Given the description of an element on the screen output the (x, y) to click on. 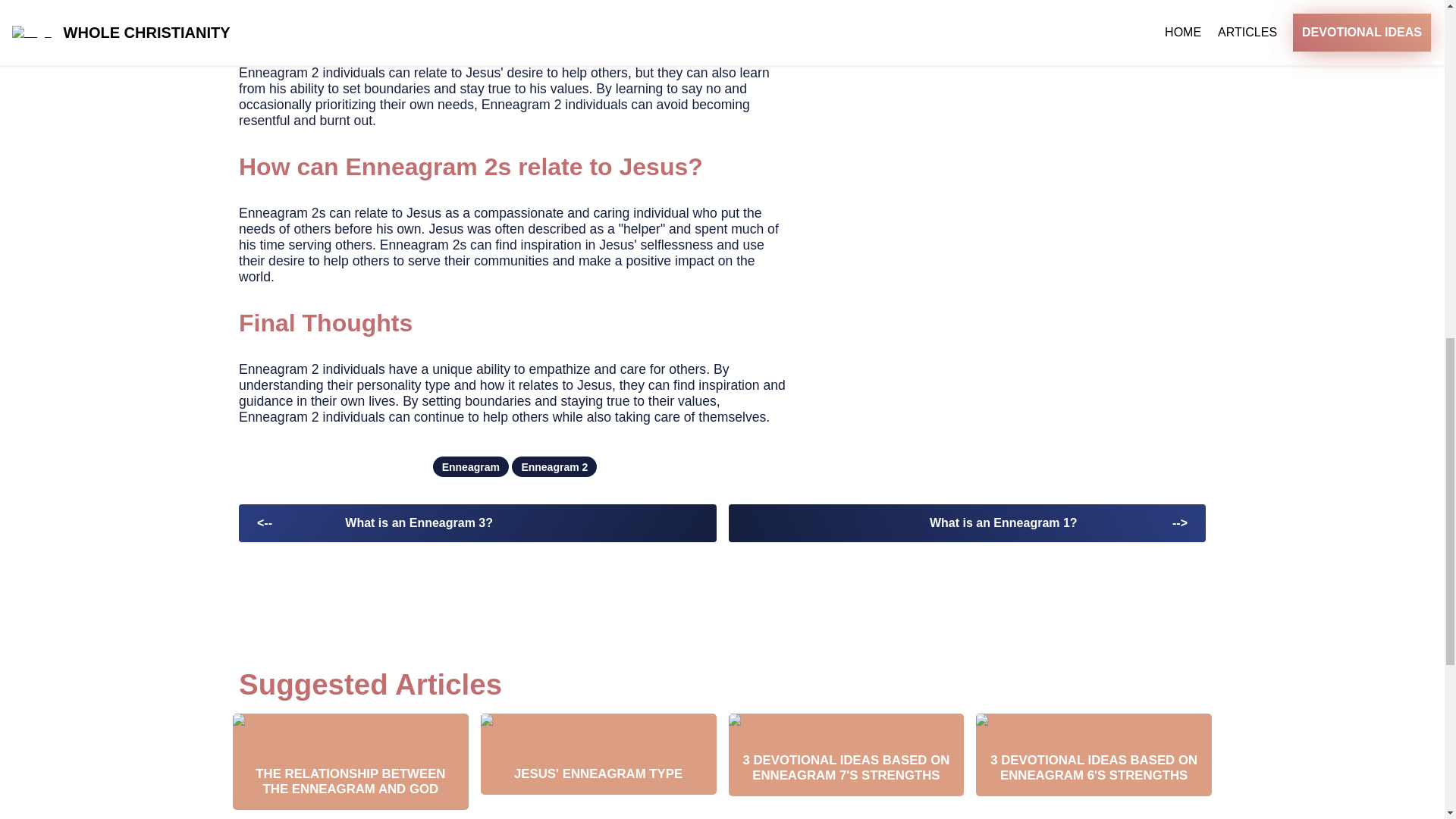
JESUS' ENNEAGRAM TYPE (598, 753)
Enneagram (470, 466)
3 DEVOTIONAL IDEAS BASED ON ENNEAGRAM 6'S STRENGTHS (1093, 754)
Enneagram 2 (554, 466)
3 DEVOTIONAL IDEAS BASED ON ENNEAGRAM 7'S STRENGTHS (845, 754)
THE RELATIONSHIP BETWEEN THE ENNEAGRAM AND GOD (350, 761)
